Given the description of an element on the screen output the (x, y) to click on. 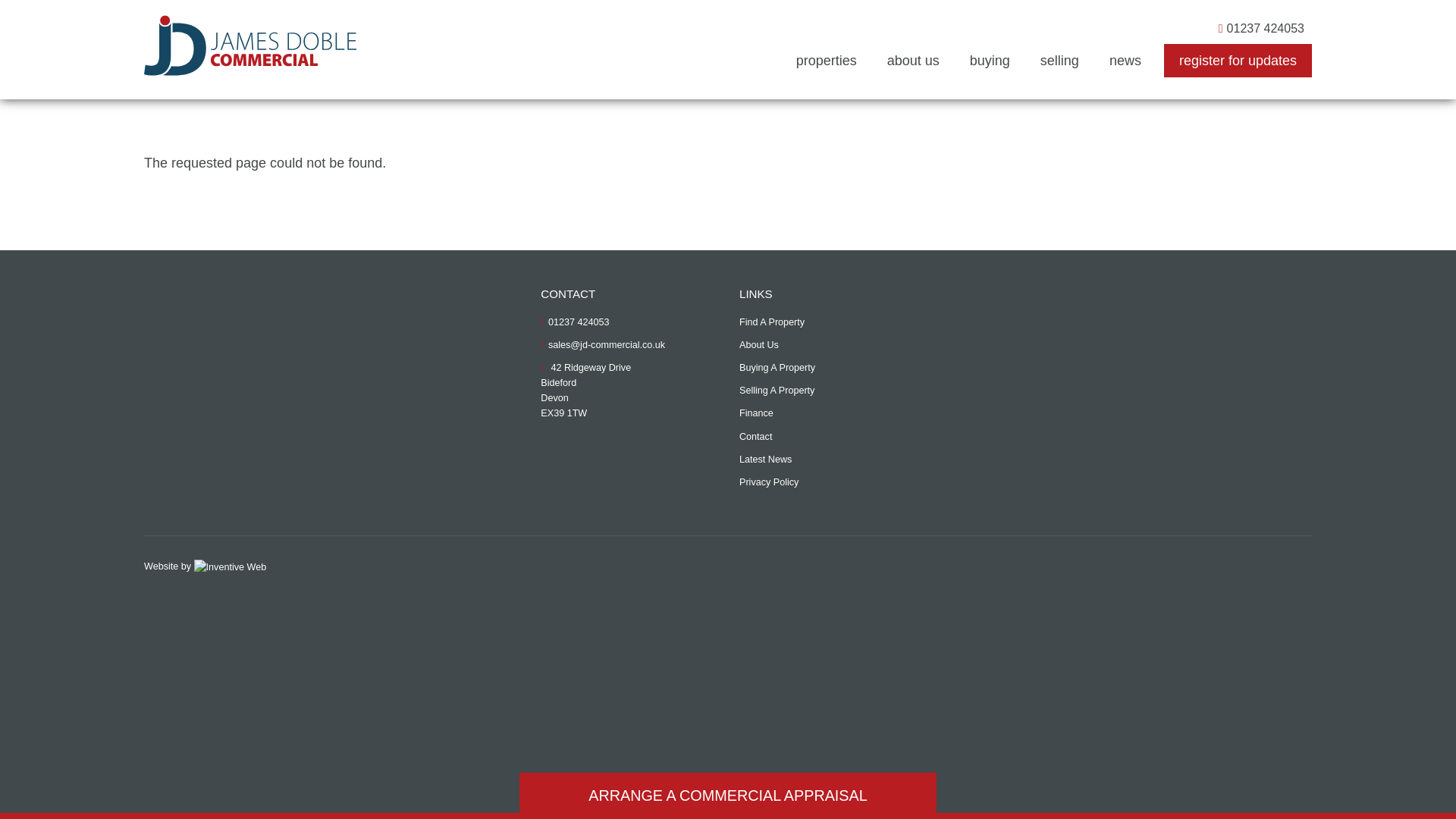
01237 424053 (574, 321)
Homepage (250, 45)
Finance (756, 416)
buying (990, 60)
Selling A Property (776, 394)
About Us (758, 348)
Buying A Property (777, 371)
register for updates (1237, 60)
Find A Property (772, 325)
